Given the description of an element on the screen output the (x, y) to click on. 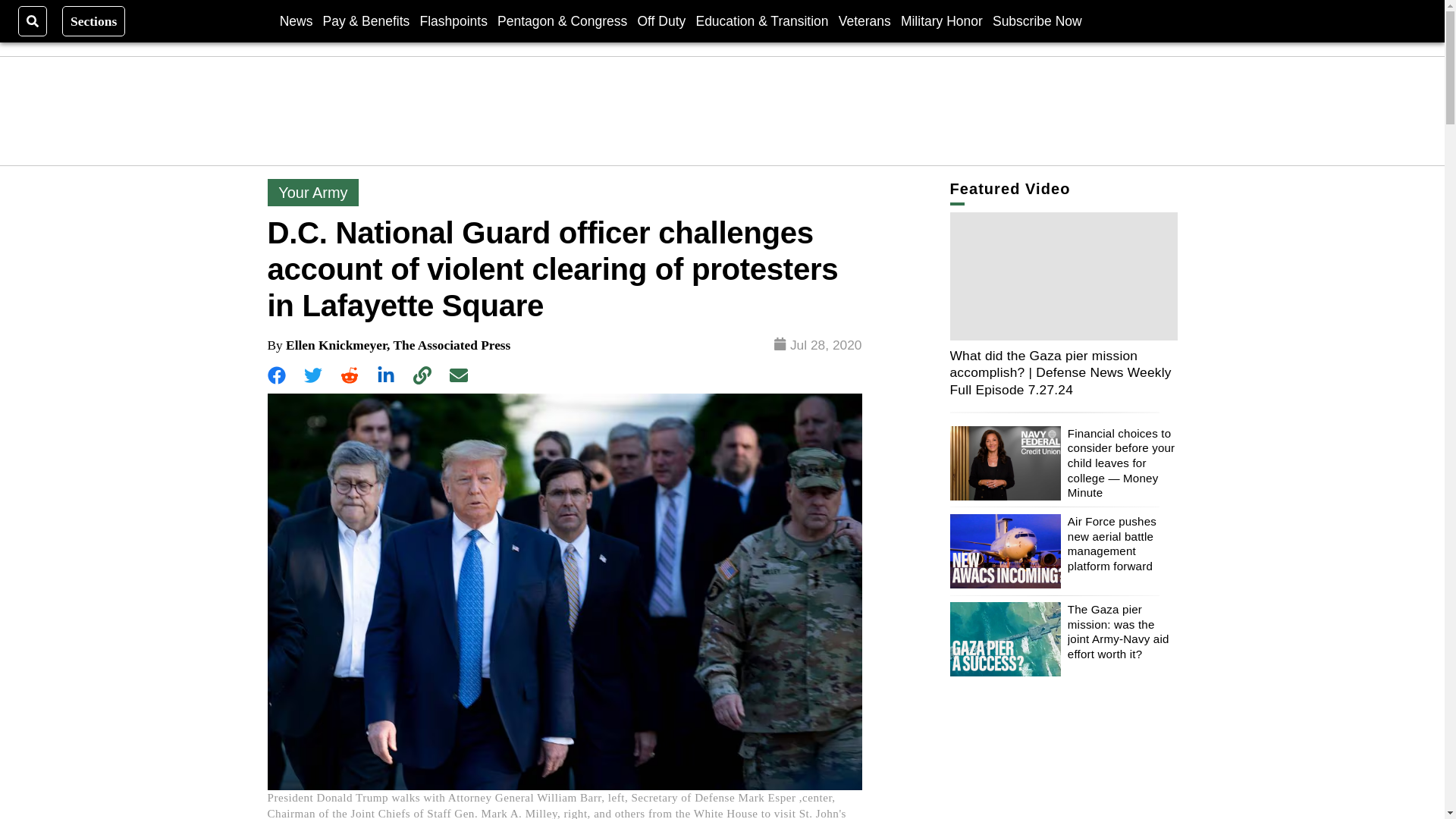
Veterans (864, 20)
News (296, 20)
Military Honor (941, 20)
Flashpoints (453, 20)
Sections (93, 20)
Off Duty (661, 20)
